Given the description of an element on the screen output the (x, y) to click on. 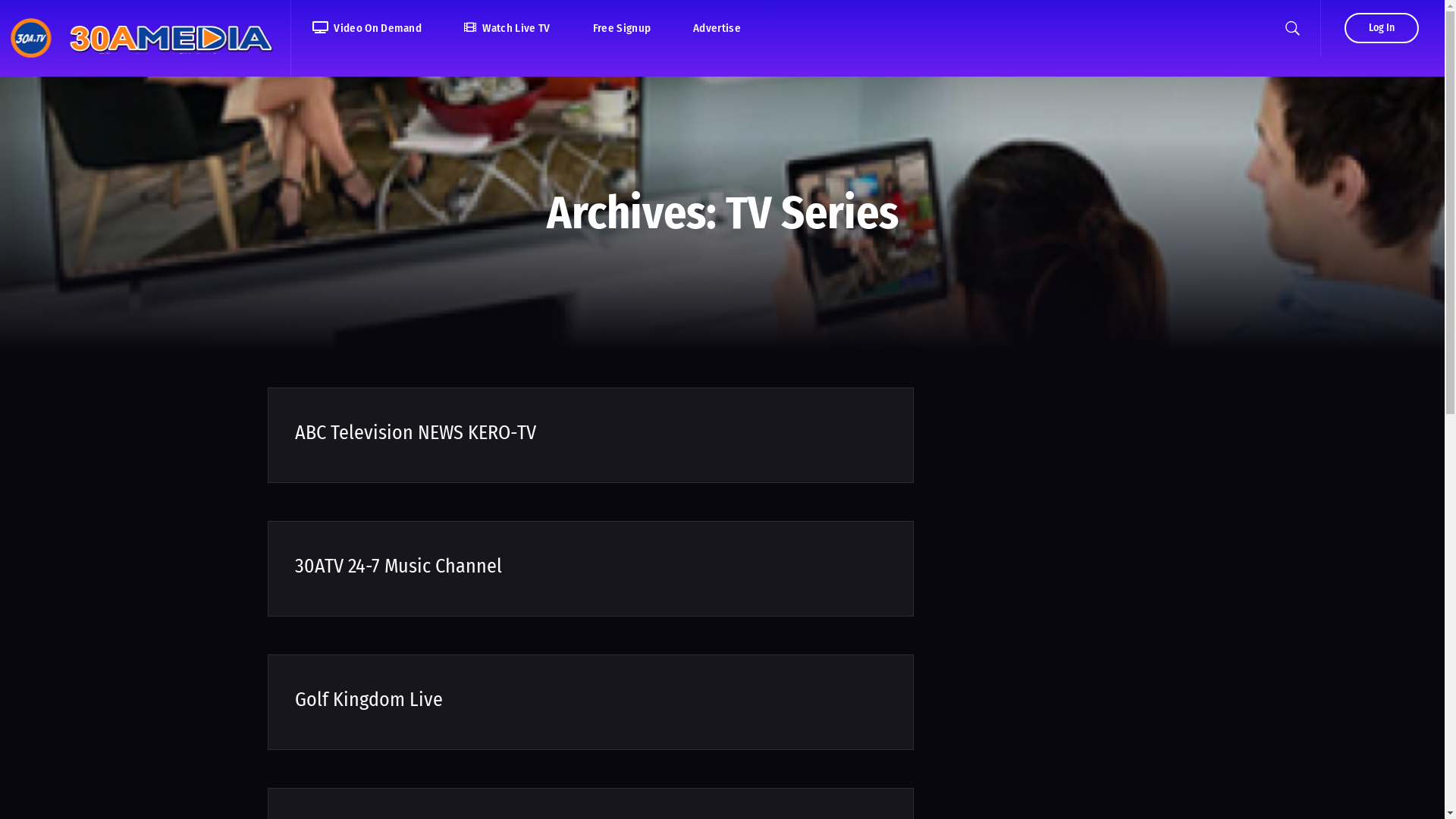
ABC Television NEWS KERO-TV Element type: text (414, 432)
Search Videos Element type: text (679, 302)
Watch Live TV Element type: text (506, 28)
Log In Element type: text (1381, 27)
Video On Demand Element type: text (366, 28)
30ATV 24-7 Music Channel Element type: text (397, 565)
Golf Kingdom Live Element type: text (368, 699)
Advertise Element type: text (716, 28)
30A Television | Broadcast Network Streaming TV Element type: hover (145, 38)
Free Signup Element type: text (621, 28)
